Given the description of an element on the screen output the (x, y) to click on. 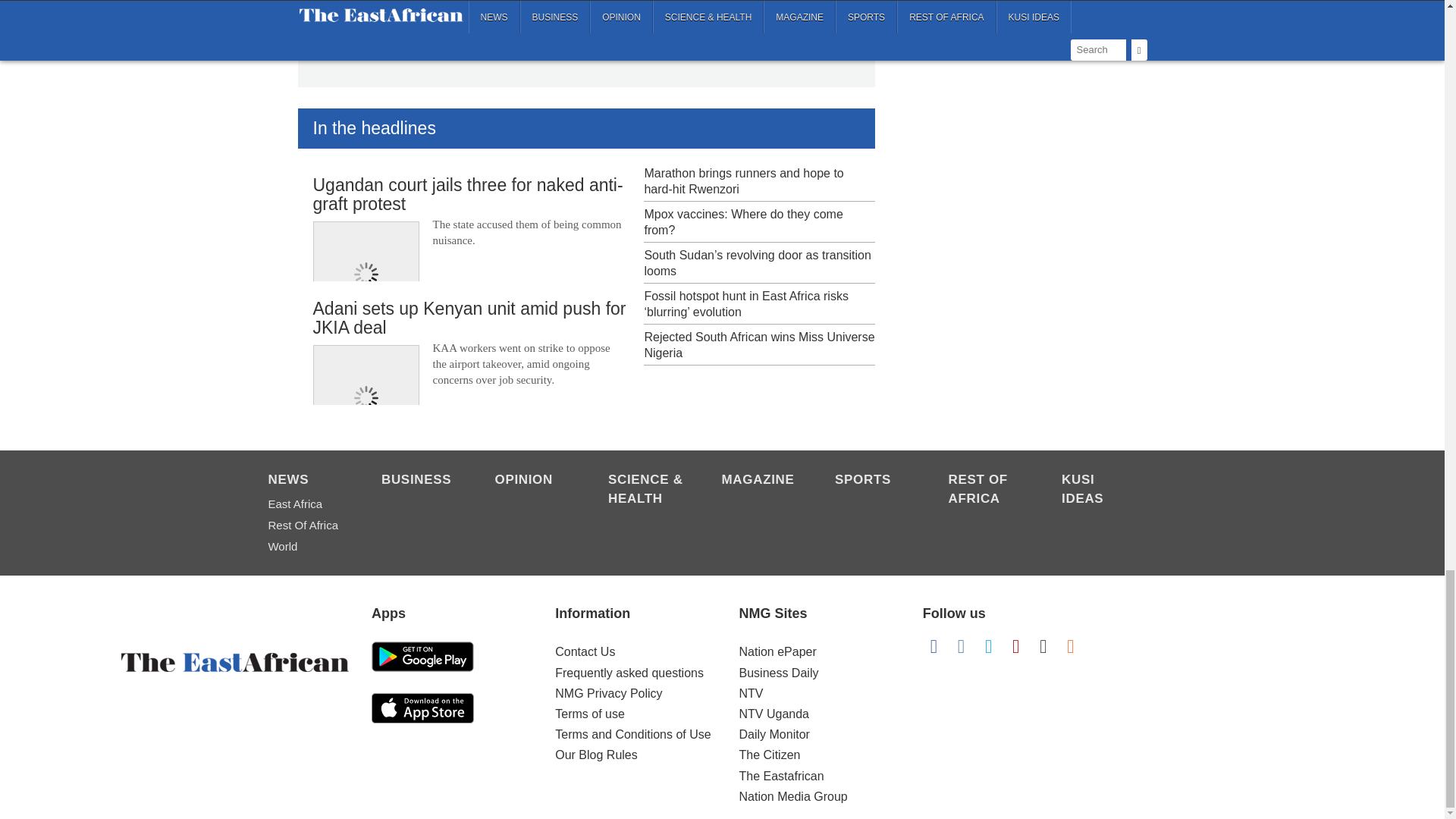
Opinion (533, 480)
NMG Privacy Policy (608, 693)
Terms and Conditions of Use (632, 734)
Rest of Africa (987, 490)
Contact Us (584, 651)
Sports (873, 480)
World (306, 546)
Rest of Africa (306, 525)
Business (419, 480)
KUSI IDEAS (1099, 490)
